Given the description of an element on the screen output the (x, y) to click on. 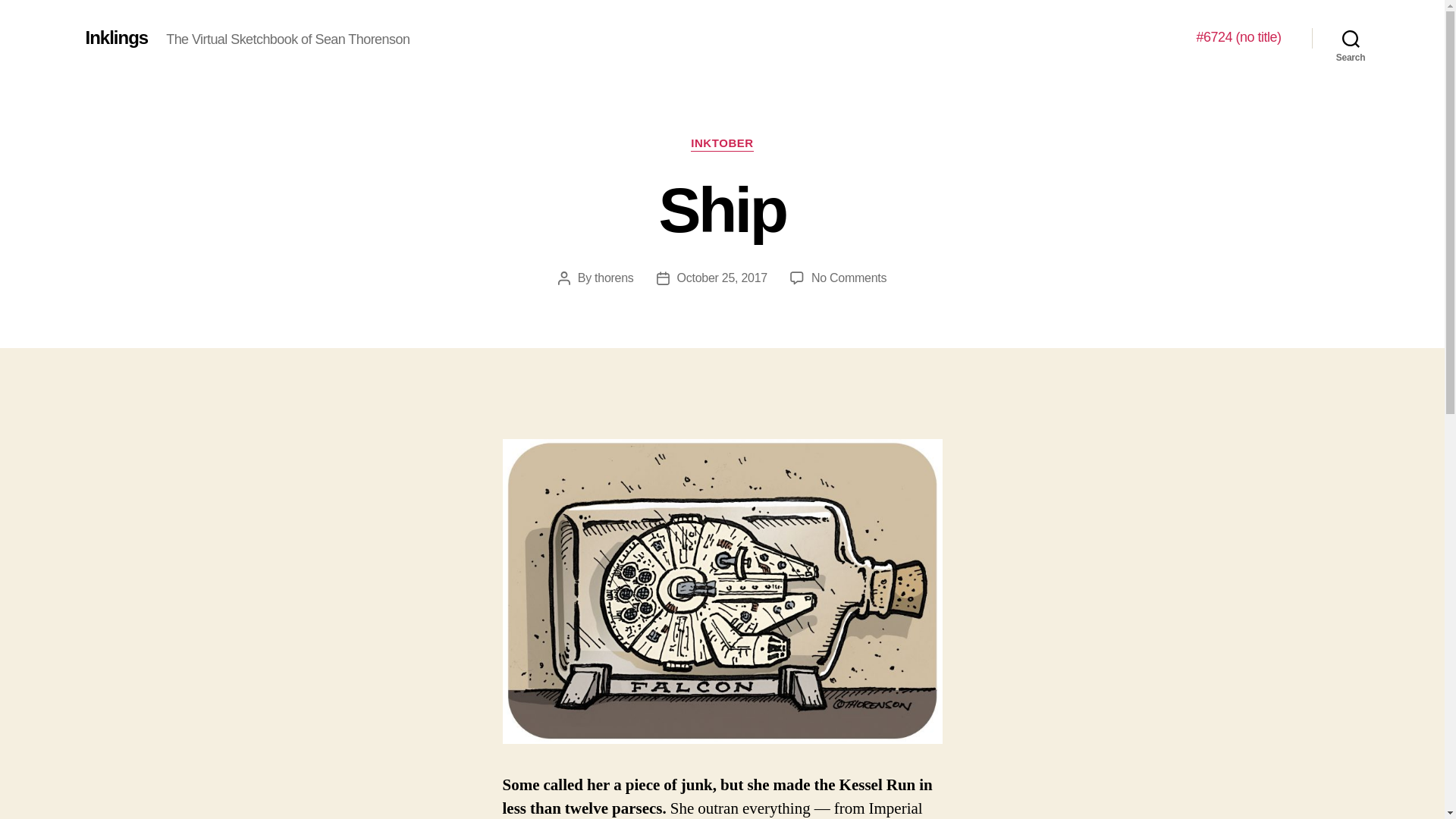
Search (1350, 37)
thorens (613, 277)
Inklings (116, 37)
INKTOBER (721, 143)
October 25, 2017 (722, 277)
